Given the description of an element on the screen output the (x, y) to click on. 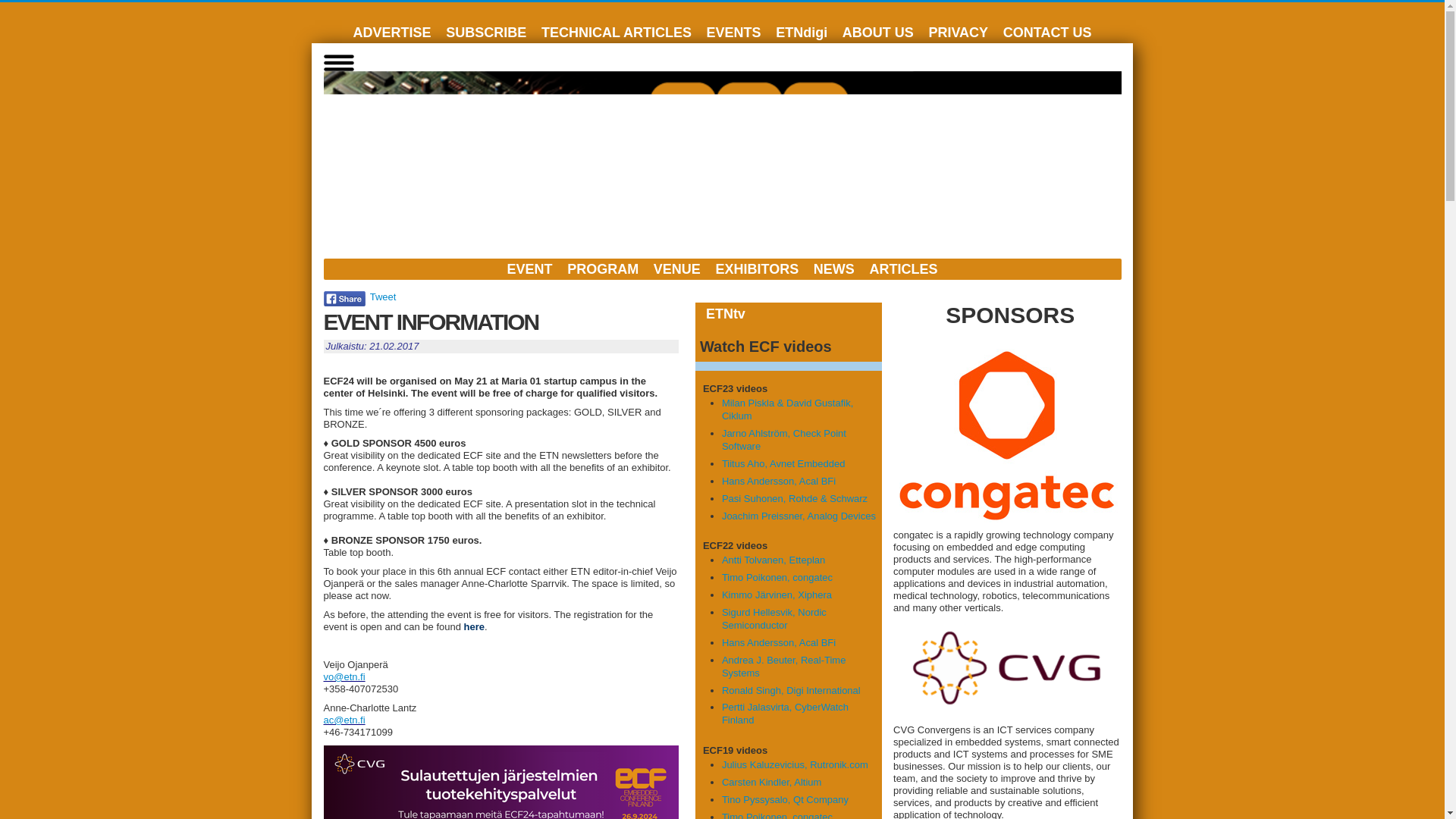
Tiitus Aho, Avnet Embedded (783, 463)
ABOUT US (877, 32)
EVENT (529, 268)
Tweet (382, 296)
ARTICLES (903, 268)
EXHIBITORS (757, 268)
SUBSCRIBE (485, 32)
NEWS (834, 268)
PROGRAM (602, 268)
VENUE (676, 268)
EVENTS (733, 32)
PRIVACY (957, 32)
ETNdigi (801, 32)
TECHNICAL ARTICLES (616, 32)
ADVERTISE (392, 32)
